Given the description of an element on the screen output the (x, y) to click on. 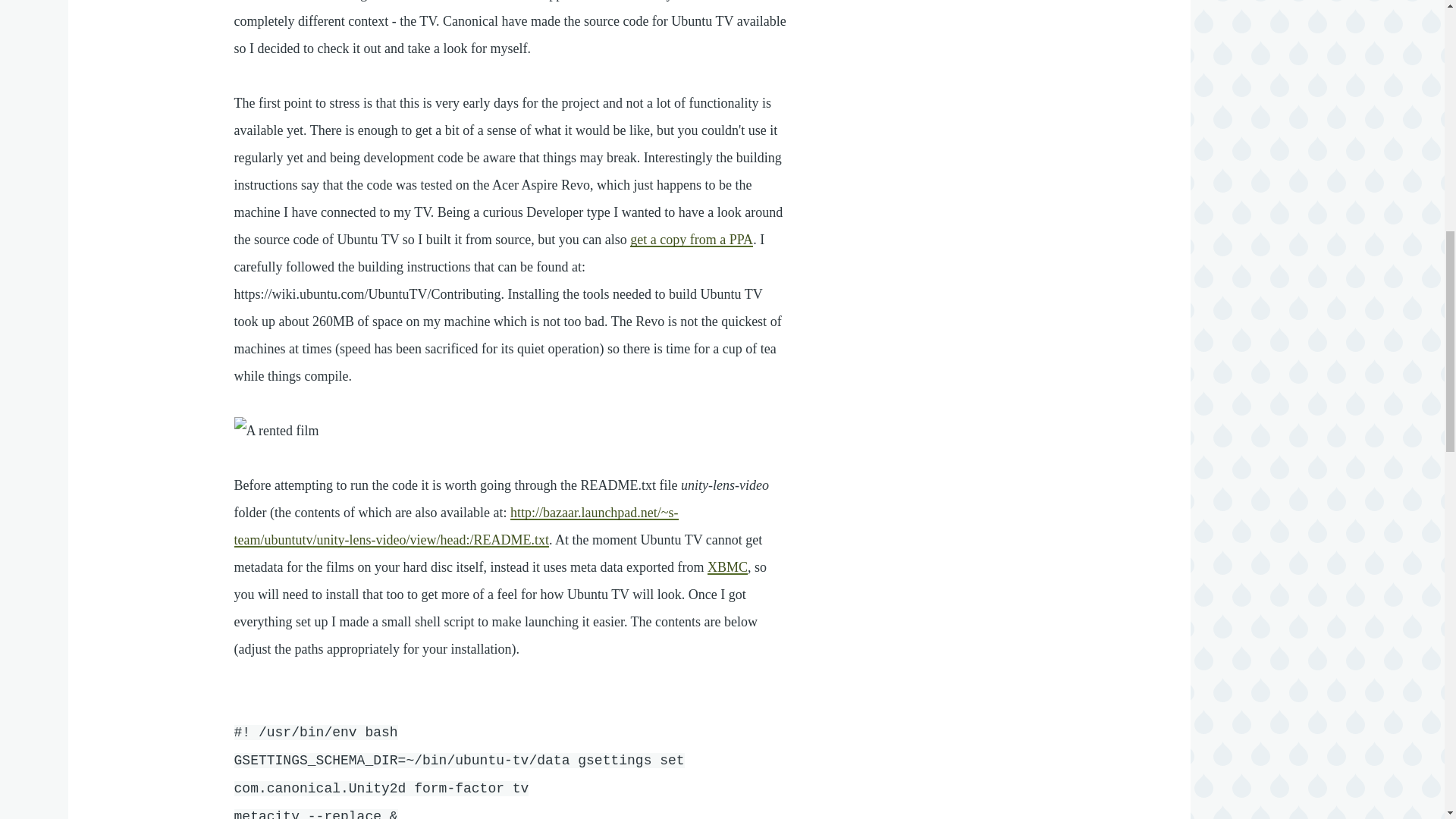
get a copy from a PPA (691, 239)
XBMC (727, 566)
